Given the description of an element on the screen output the (x, y) to click on. 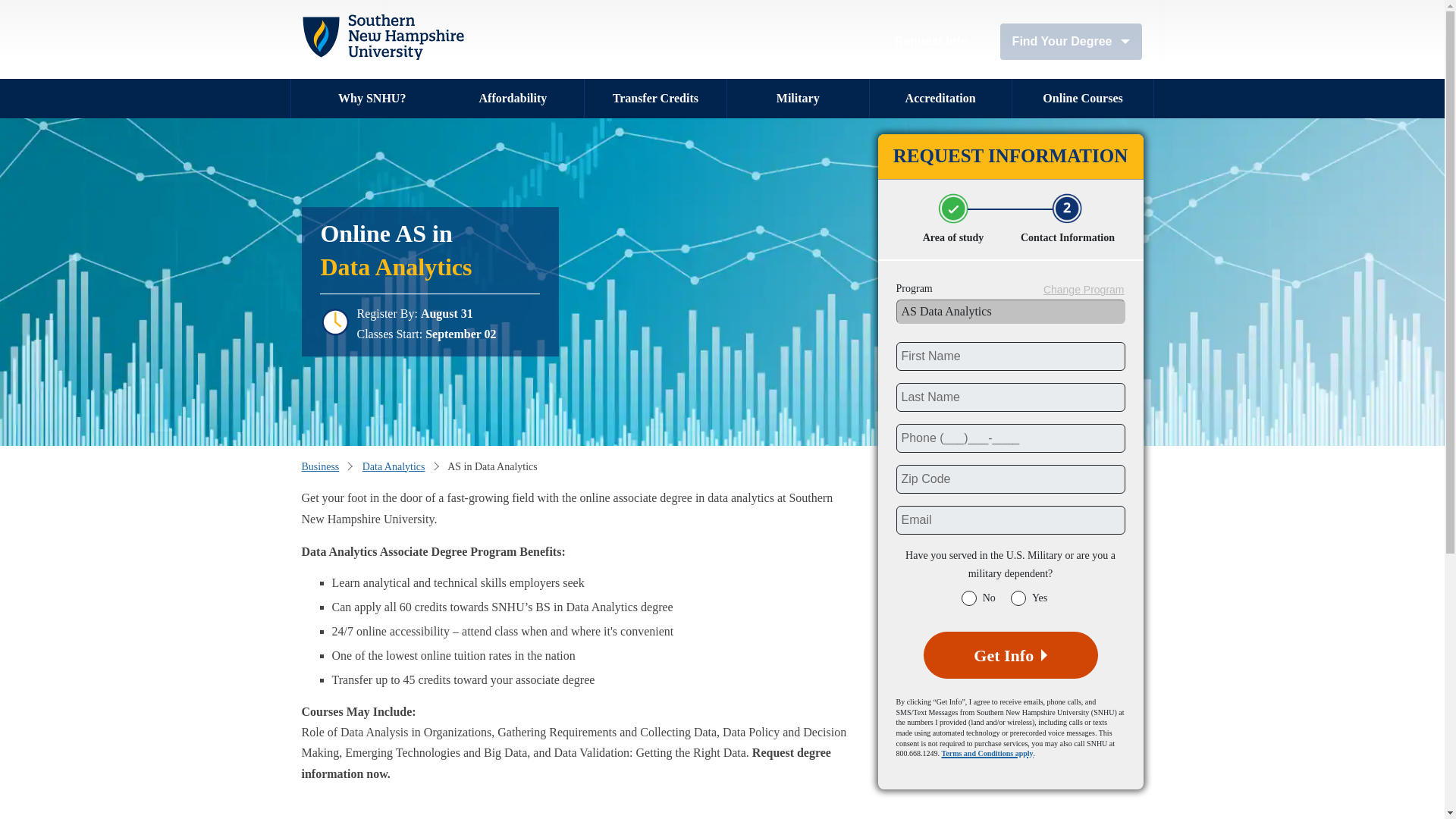
Get Info (1010, 654)
Southern New Hampshire University (382, 36)
Request Info (931, 41)
Online Courses (1082, 97)
Skip to main content (303, 5)
Why SNHU? (371, 97)
Terms and Conditions apply (987, 753)
Change Program (1083, 290)
Transfer Credits (655, 97)
Find Your Degree (1070, 41)
Affordability (512, 97)
Military (797, 97)
Accreditation (940, 97)
